Given the description of an element on the screen output the (x, y) to click on. 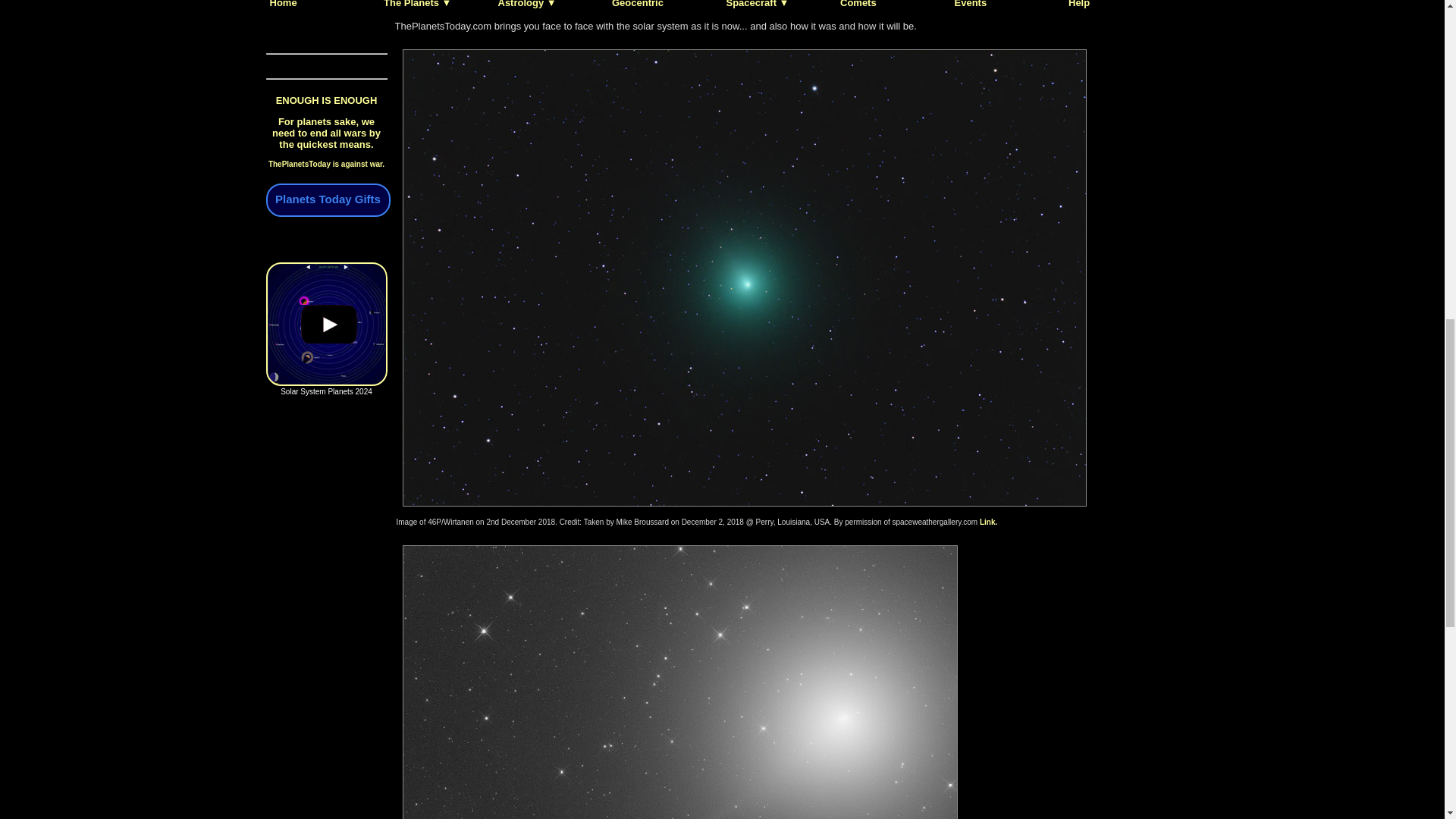
Solar System Video (325, 323)
anti war message (325, 131)
Comets (858, 4)
The Planets Today Gift Store (325, 200)
The Planets (417, 4)
Geocentric (637, 4)
Home (283, 4)
Events (970, 4)
Help (1078, 4)
Planets Today Gifts (325, 200)
Link. (988, 521)
Spacecraft (757, 4)
Astrology (526, 4)
